Given the description of an element on the screen output the (x, y) to click on. 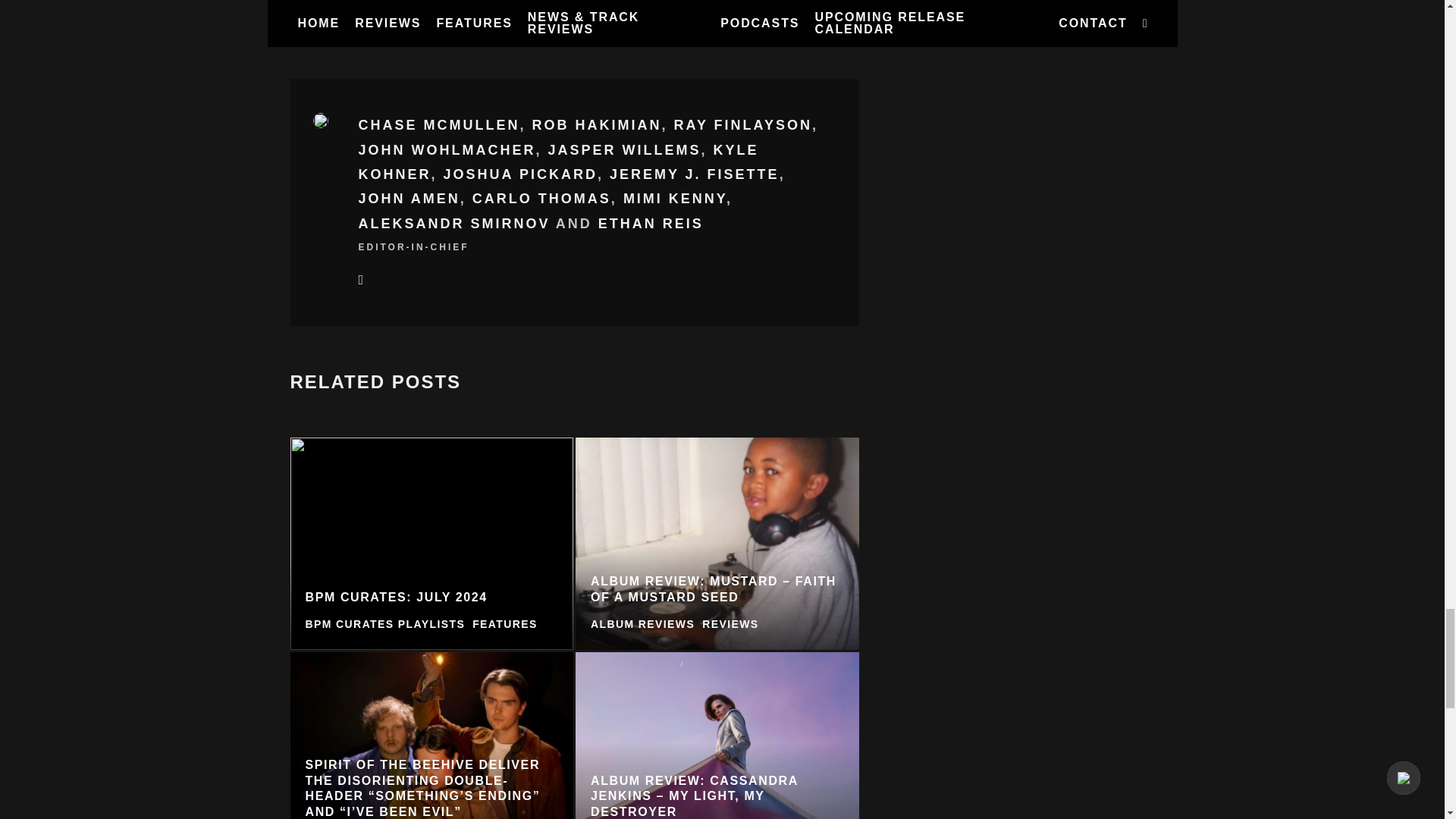
View all posts by Ray Finlayson (743, 124)
View all posts by John Wohlmacher (446, 150)
View all posts by Chase McMullen (438, 124)
View all posts by Rob Hakimian (597, 124)
